Given the description of an element on the screen output the (x, y) to click on. 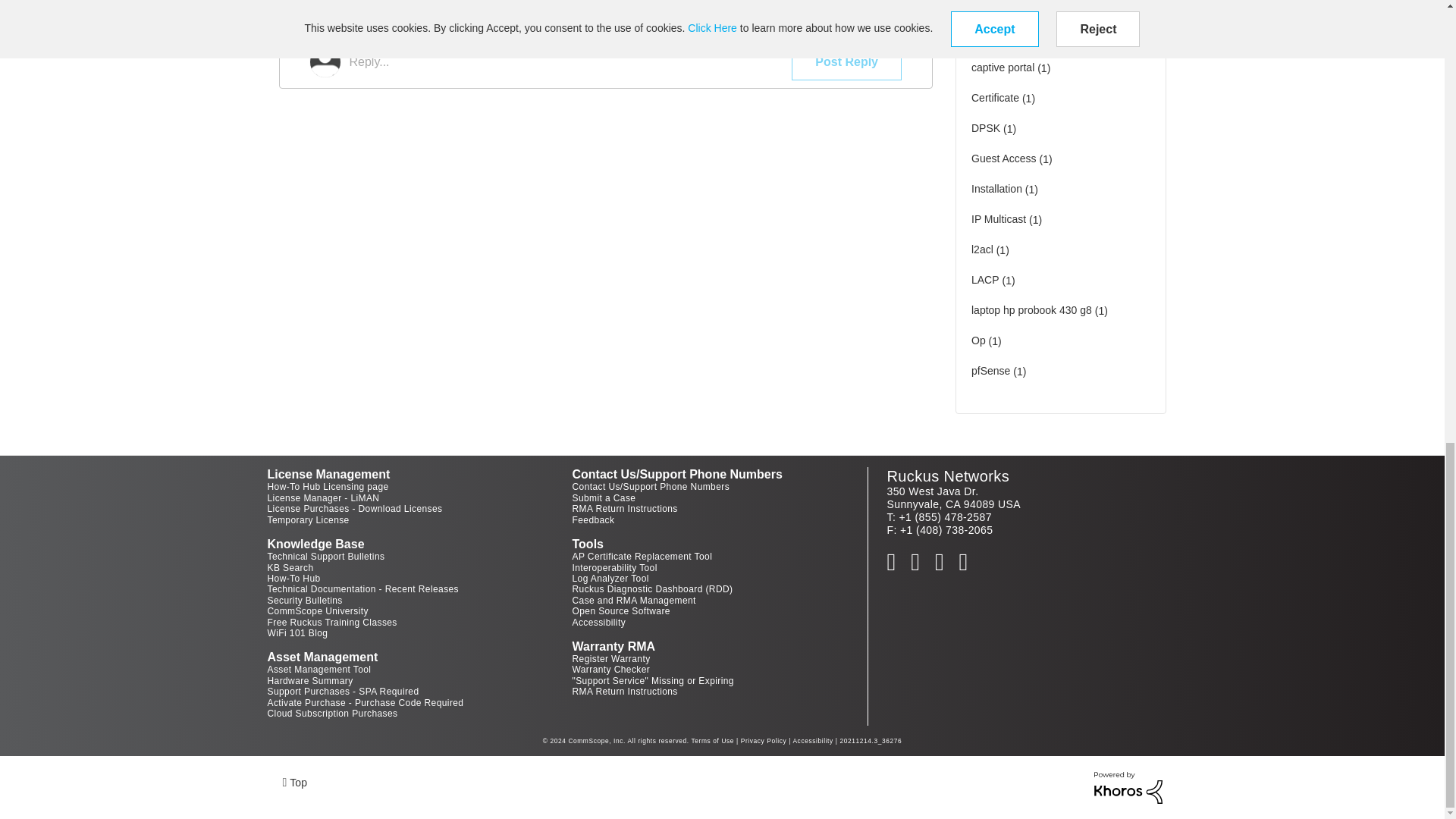
Unleashed captive portals and firewalls (893, 2)
Top (293, 781)
Unleashed (710, 2)
Top (293, 781)
